Given the description of an element on the screen output the (x, y) to click on. 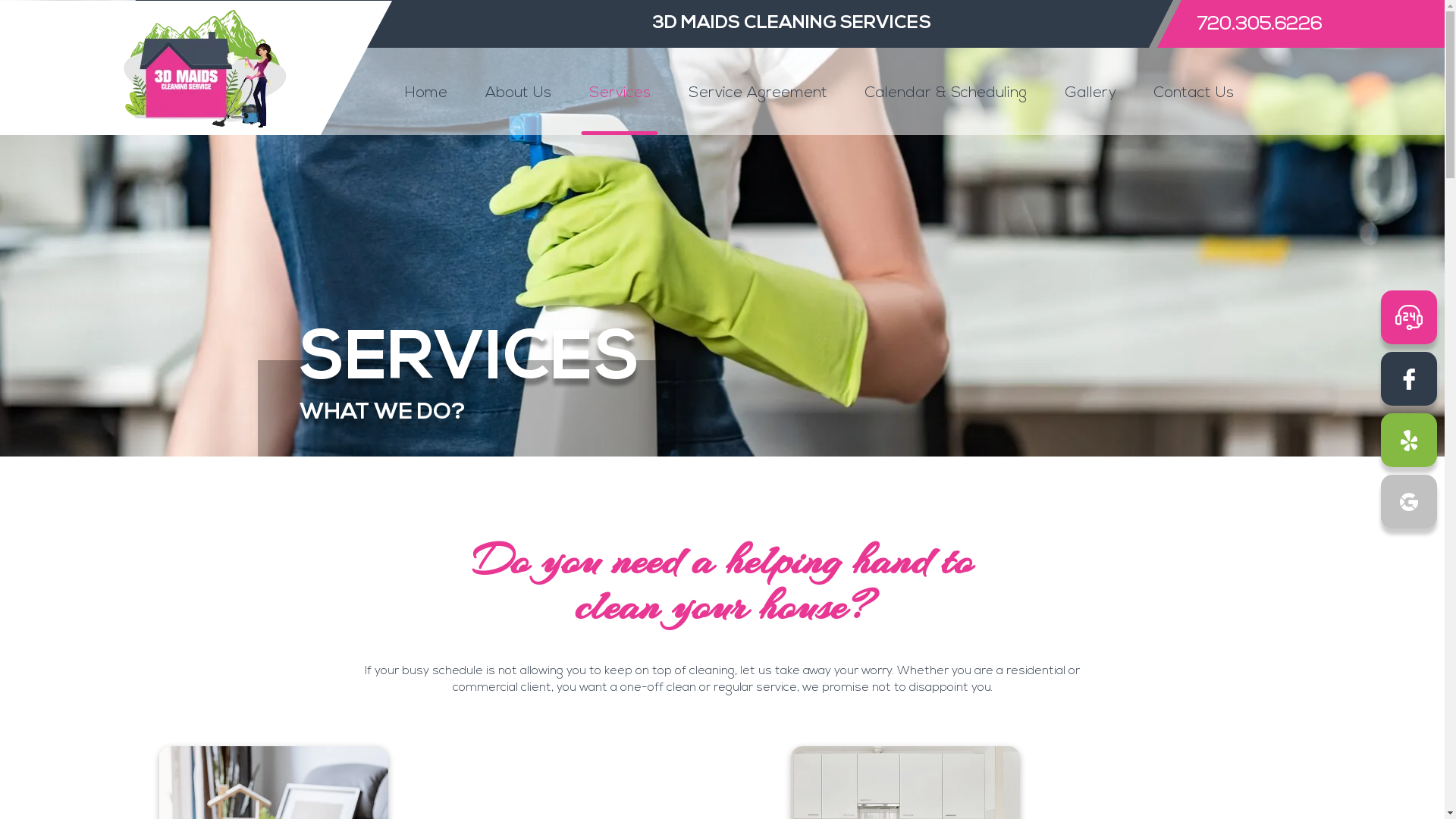
About Us Element type: text (518, 90)
Home Element type: text (425, 90)
Calendar & Scheduling Element type: text (945, 90)
Services Element type: text (619, 90)
720.305.6226 Element type: text (1240, 23)
Service Agreement Element type: text (757, 90)
Gallery Element type: text (1090, 90)
Contact Us Element type: text (1193, 90)
